Given the description of an element on the screen output the (x, y) to click on. 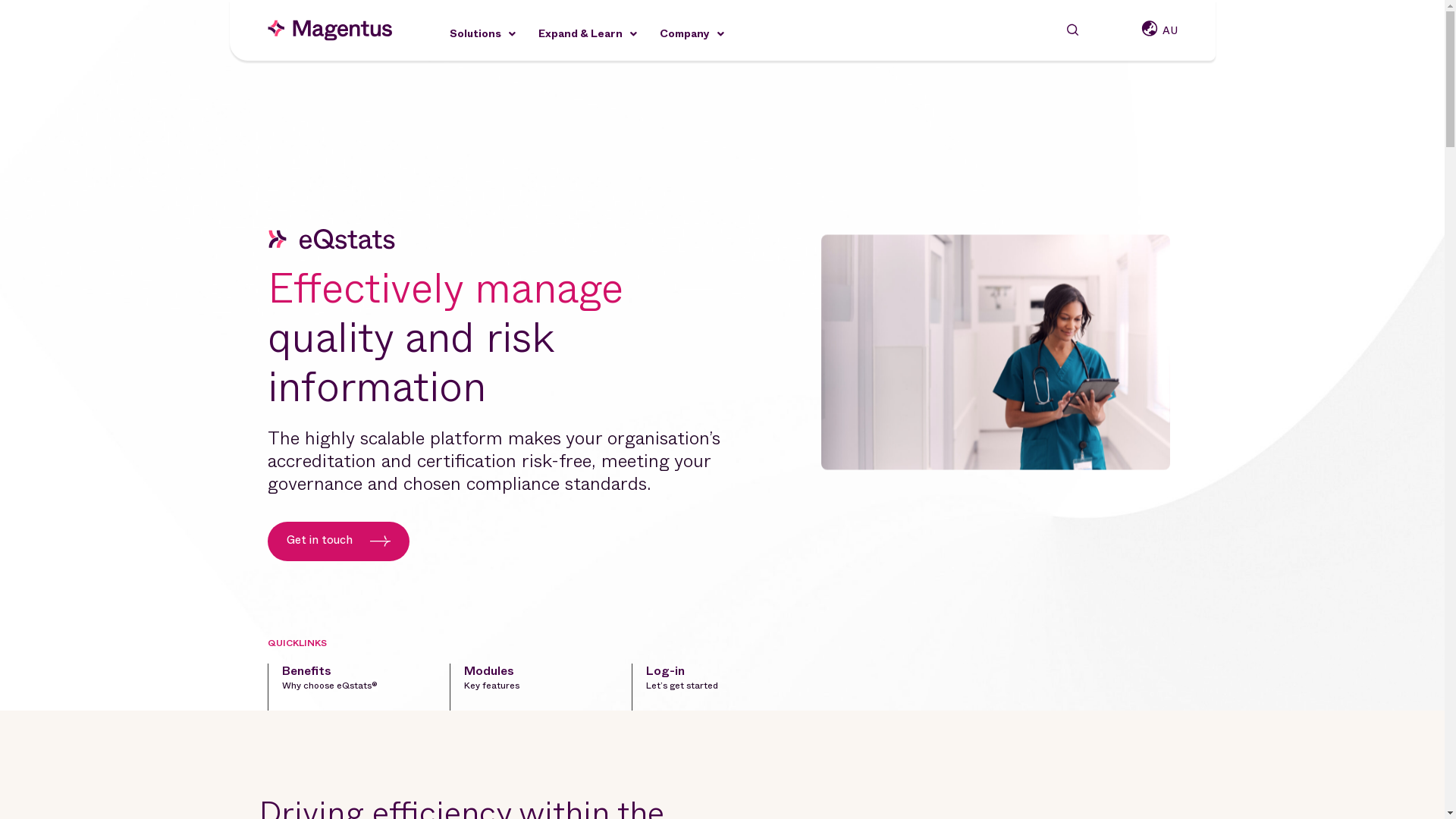
Solutions Element type: text (492, 33)
Expand & Learn Element type: text (598, 33)
Company Element type: text (702, 33)
Modules Element type: text (489, 670)
Get in touch Element type: text (337, 541)
Benefits Element type: text (306, 670)
Log-in Element type: text (665, 670)
